Given the description of an element on the screen output the (x, y) to click on. 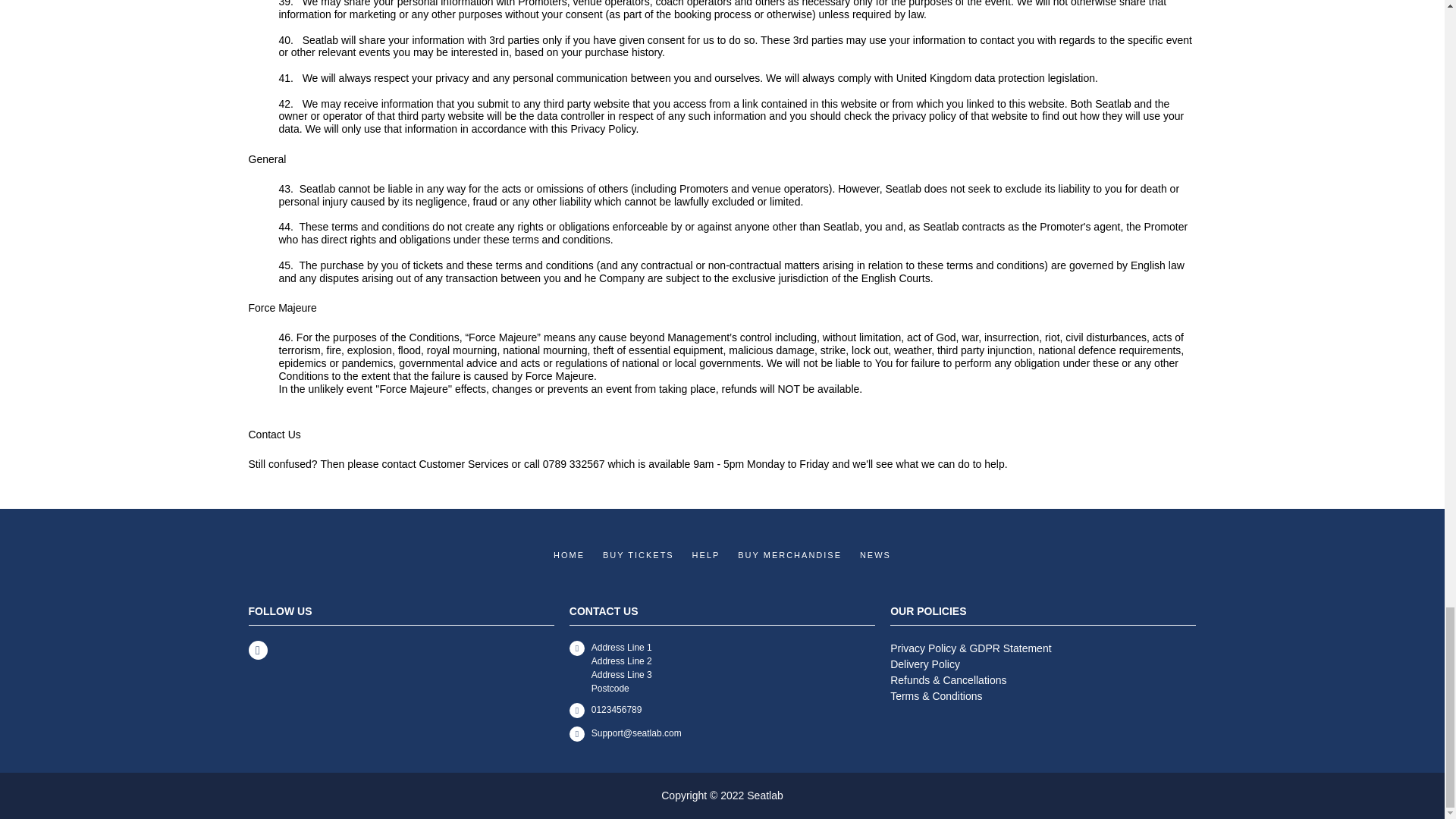
Delivery Policy (1042, 664)
NEWS (875, 554)
0123456789 (722, 710)
BUY TICKETS (638, 554)
HOME (569, 554)
HELP (706, 554)
BUY MERCHANDISE (789, 554)
